Given the description of an element on the screen output the (x, y) to click on. 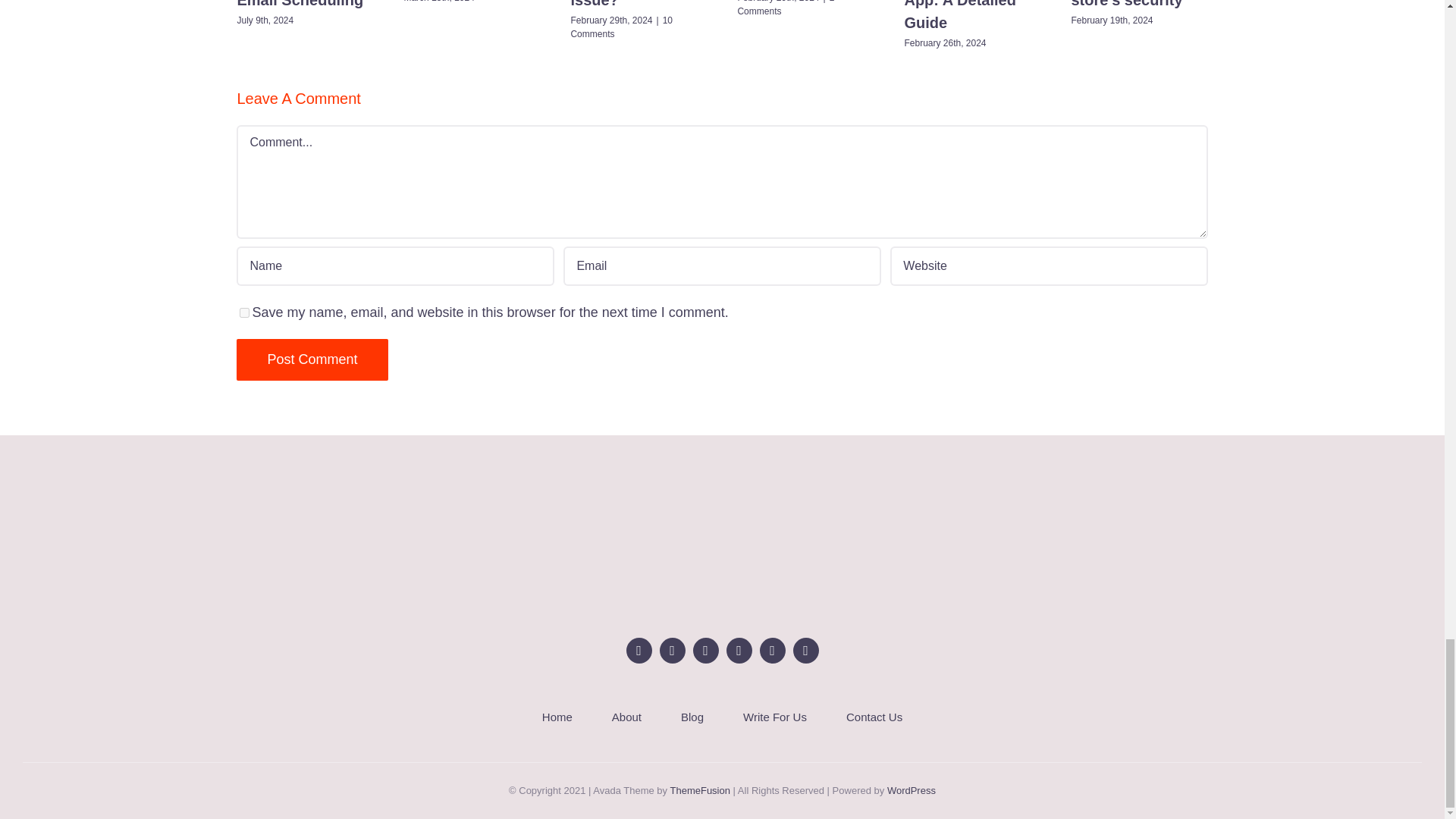
How to fix the Waasmedic Agent Exe high CPU issue? (635, 4)
2 Comments (785, 8)
How to fix the Waasmedic Agent Exe high CPU issue? (635, 4)
10 Comments (621, 27)
Post Comment (311, 359)
yes (244, 312)
